Given the description of an element on the screen output the (x, y) to click on. 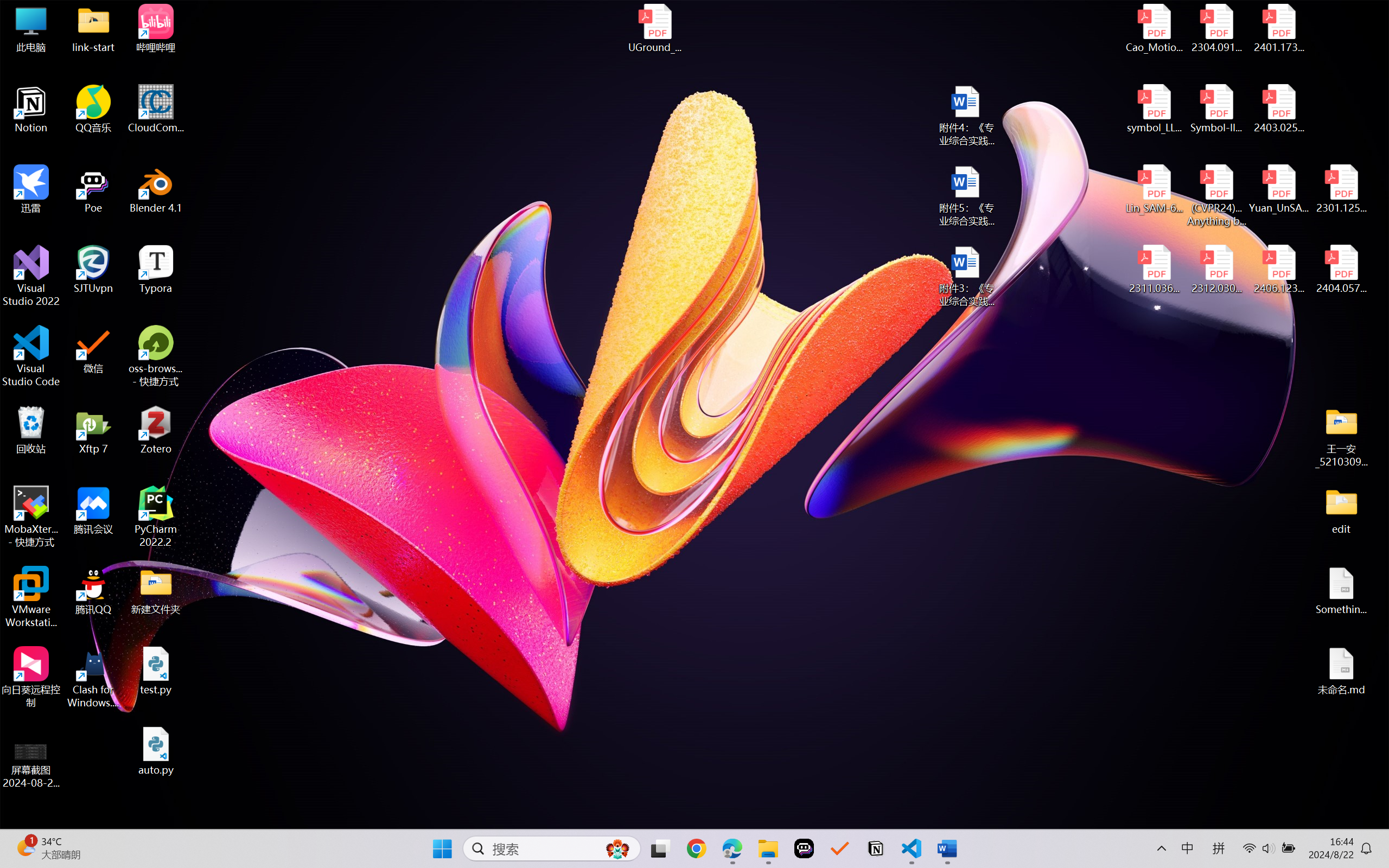
Xftp 7 (93, 430)
2406.12373v2.pdf (1278, 269)
2311.03658v2.pdf (1154, 269)
auto.py (156, 751)
PyCharm 2022.2 (156, 516)
2401.17399v1.pdf (1278, 28)
